Given the description of an element on the screen output the (x, y) to click on. 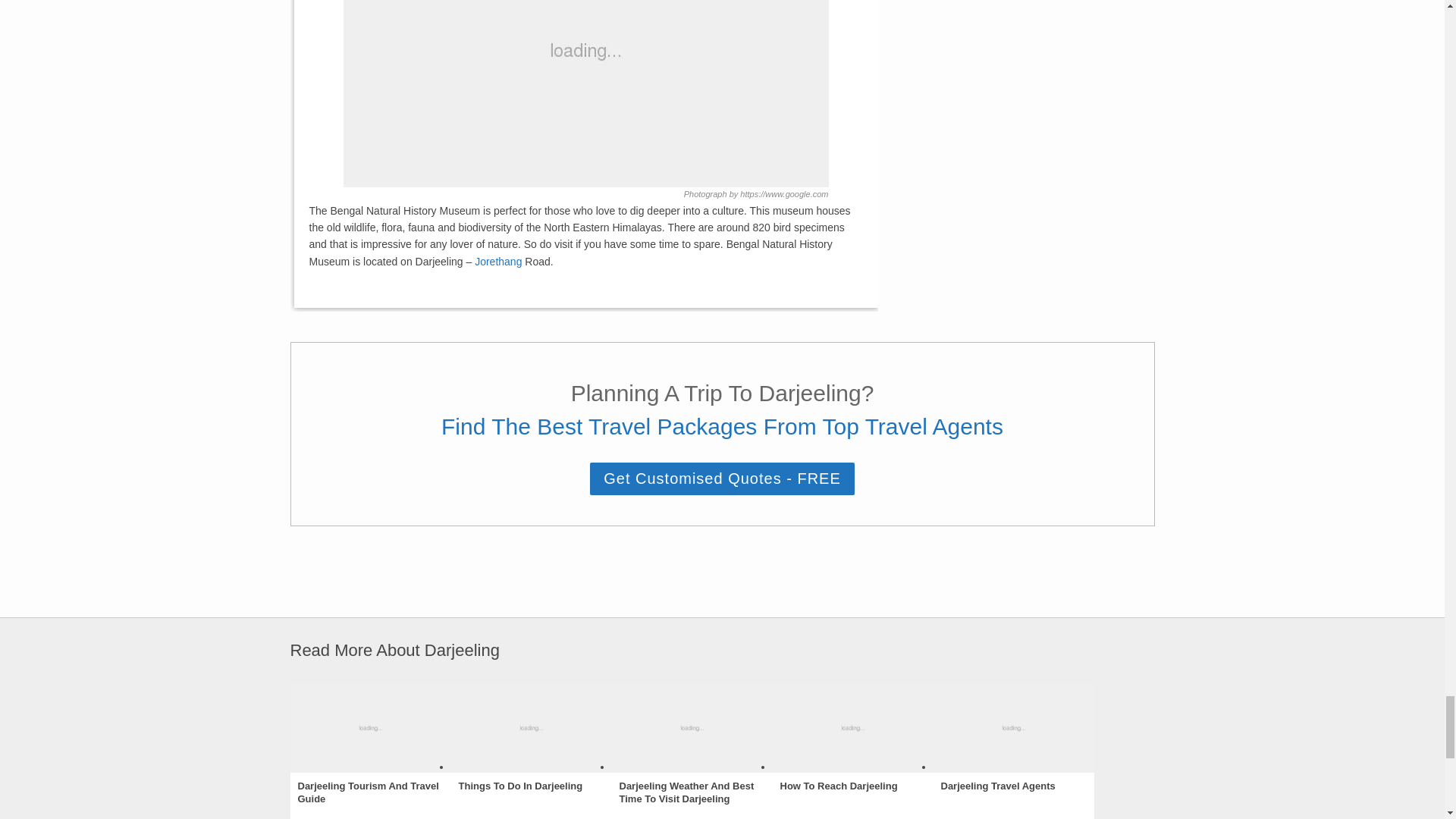
Darjeeling Travel Agents (997, 786)
Darjeeling Tourism And Travel Guide (369, 792)
Get Customised Quotes - FREE (721, 478)
Things To Do In Darjeeling (520, 786)
How To Reach Darjeeling (837, 786)
Darjeeling Weather And Best Time To Visit Darjeeling (691, 792)
Jorethang (497, 261)
